Given the description of an element on the screen output the (x, y) to click on. 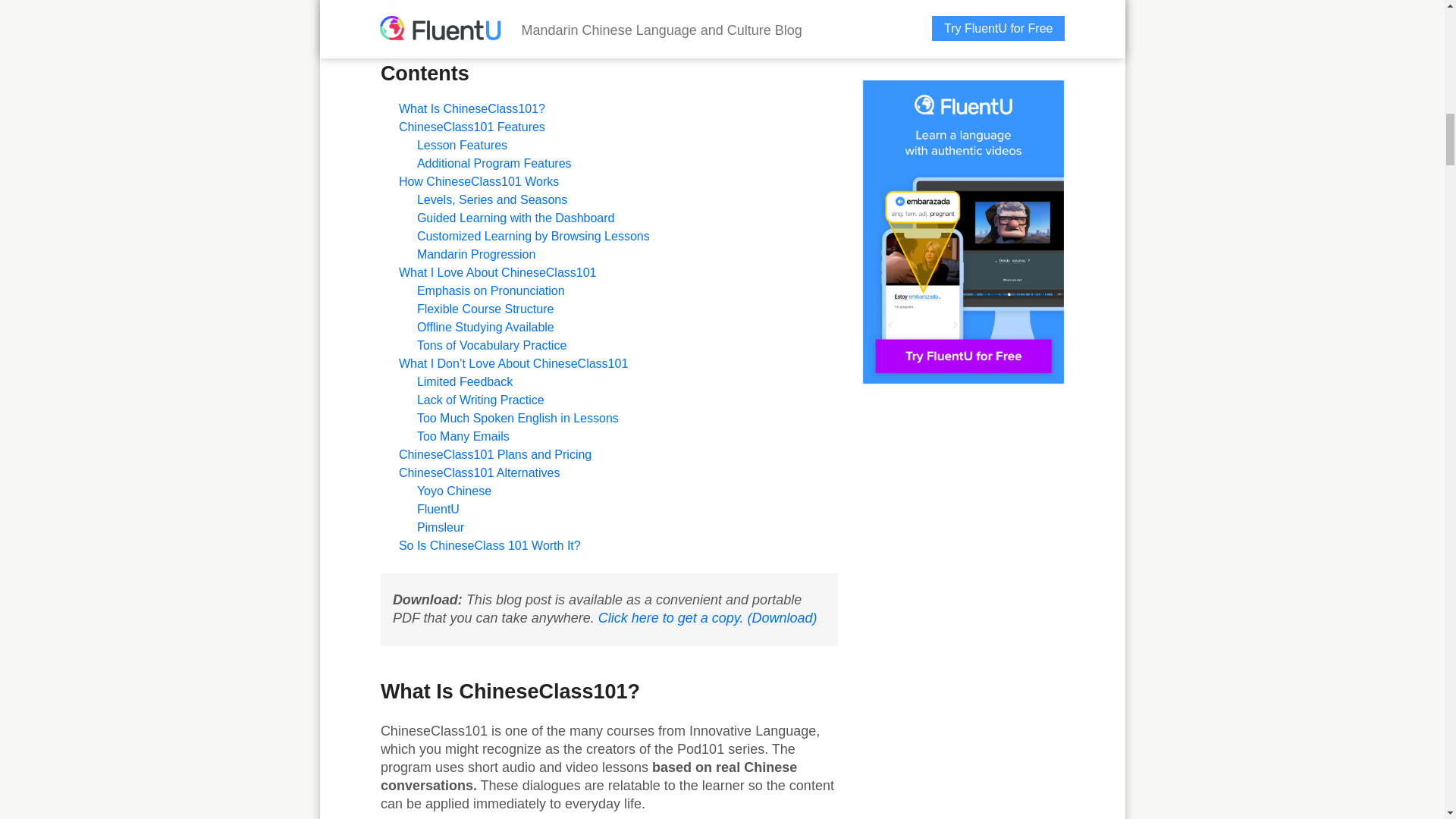
Levels, Series and Seasons (491, 199)
Offline Studying Available (485, 327)
Online Chinese Courses (702, 11)
Best Chinese YouTube Channels (501, 11)
Lack of Writing Practice (480, 399)
Too Much Spoken English in Lessons (517, 418)
FluentU (438, 508)
Too Many Emails (462, 436)
Yoyo Chinese (454, 490)
Pimsleur (440, 526)
